Given the description of an element on the screen output the (x, y) to click on. 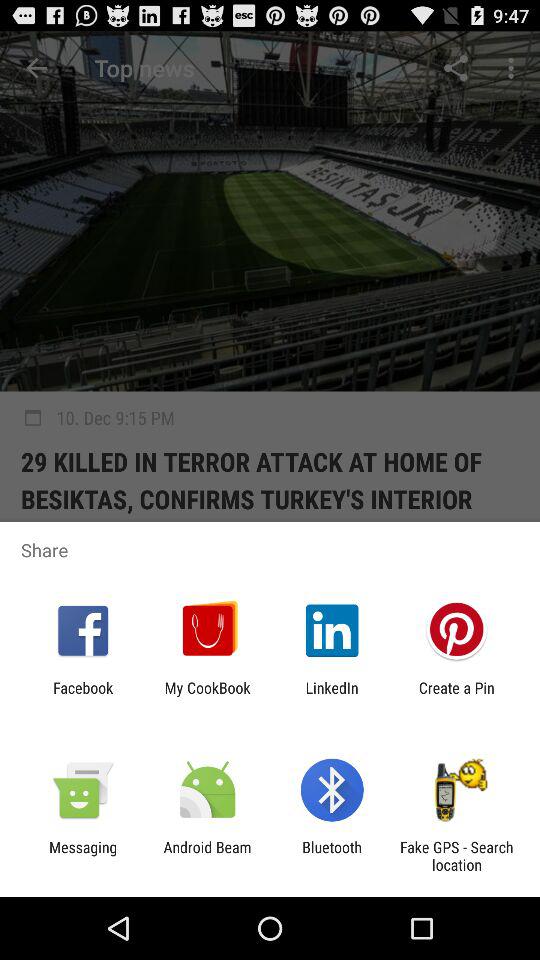
choose icon to the right of messaging (207, 856)
